Given the description of an element on the screen output the (x, y) to click on. 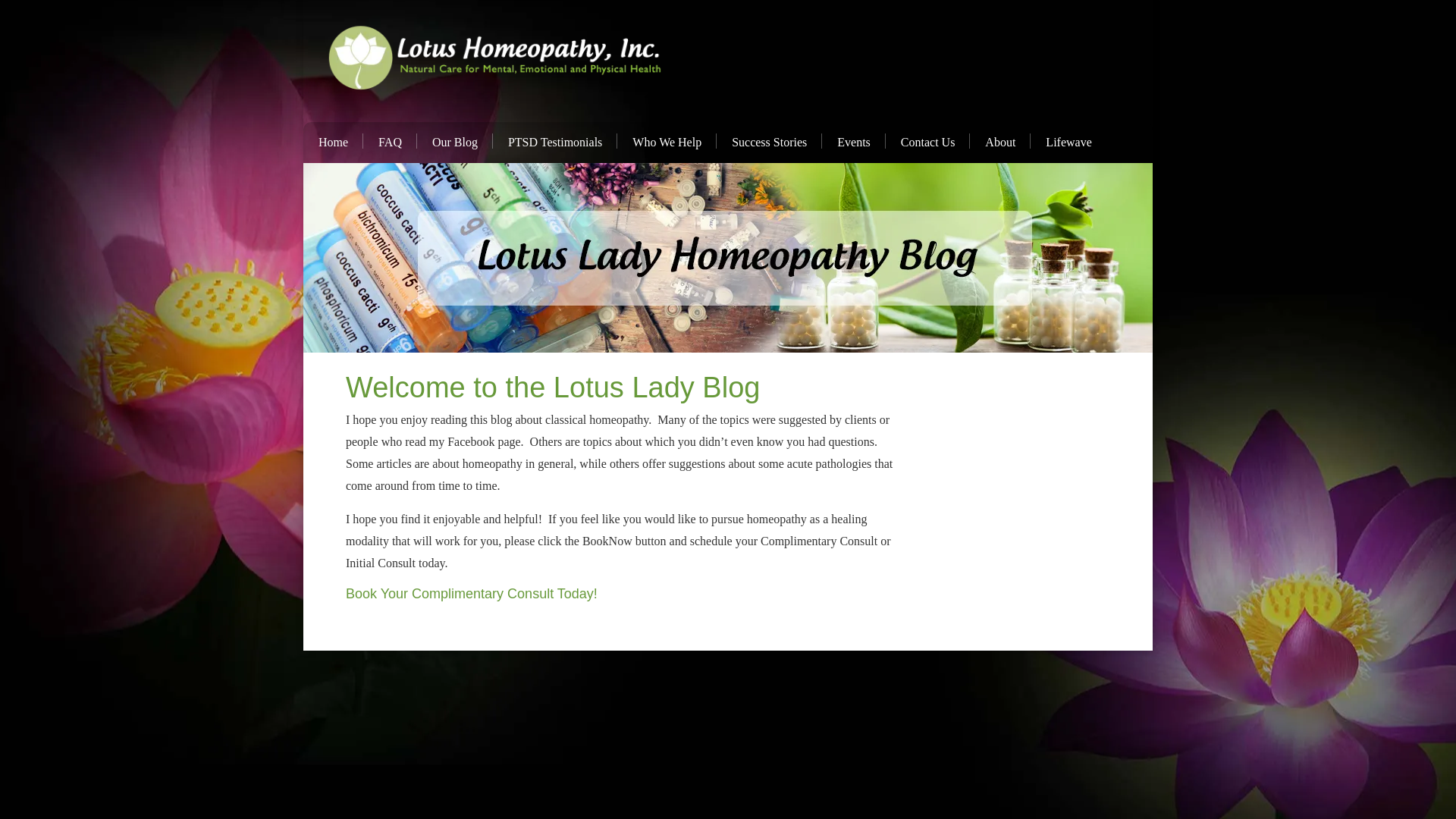
PTSD Testimonials (555, 142)
Home (332, 142)
Who We Help (666, 142)
Events (853, 142)
Our Blog (454, 142)
Lifewave (1068, 142)
Success Stories (769, 142)
Contact Us (928, 142)
About (999, 142)
FAQ (389, 142)
